Given the description of an element on the screen output the (x, y) to click on. 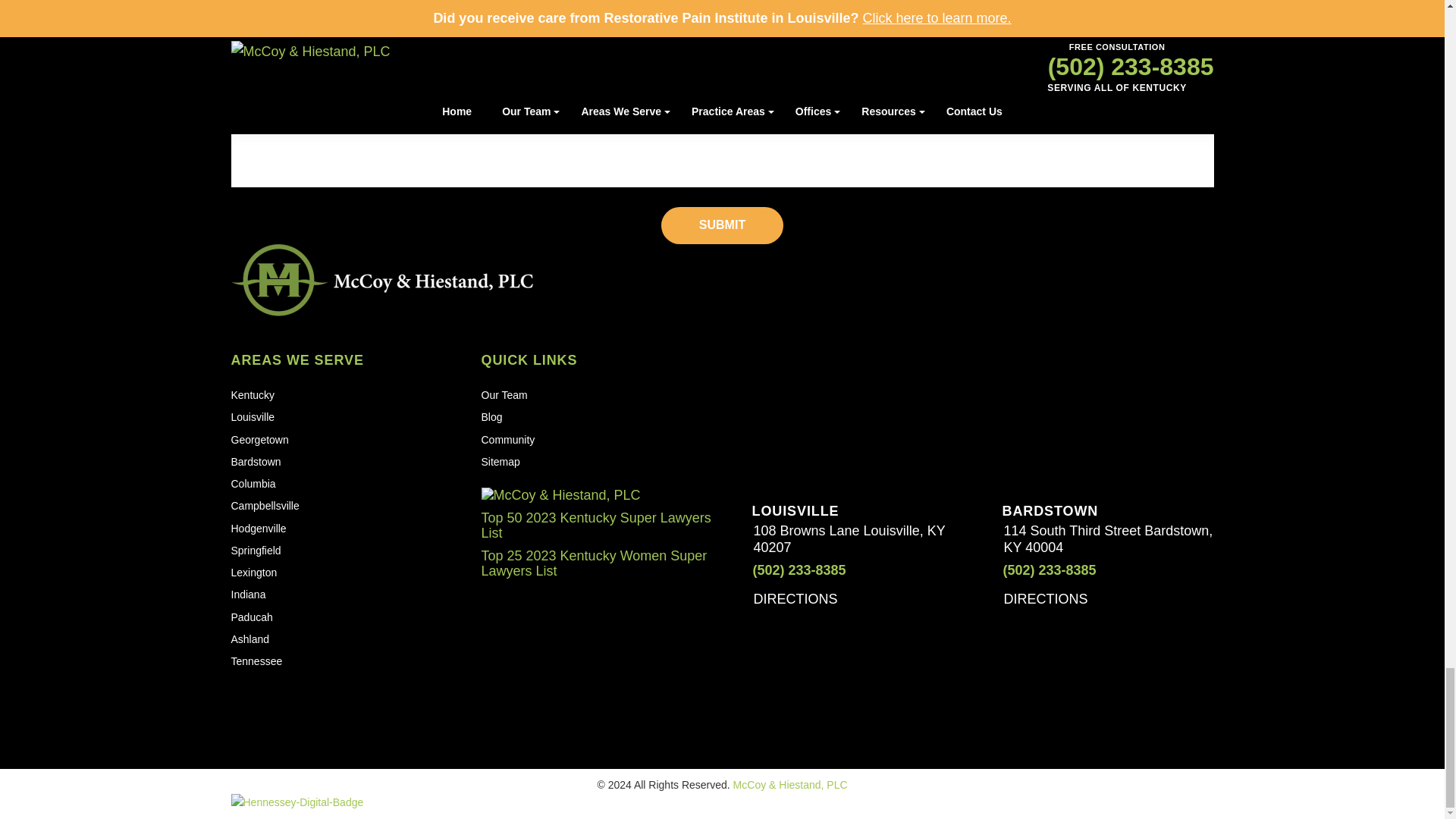
Submit (722, 225)
Follow Us on Facebook (239, 696)
Follow Us on YouTube (306, 696)
Call The Office Today (787, 570)
Follow Us on Twitter (272, 696)
Get Directions (802, 599)
Get Directions (1052, 599)
Call The Office Today (1038, 570)
